Given the description of an element on the screen output the (x, y) to click on. 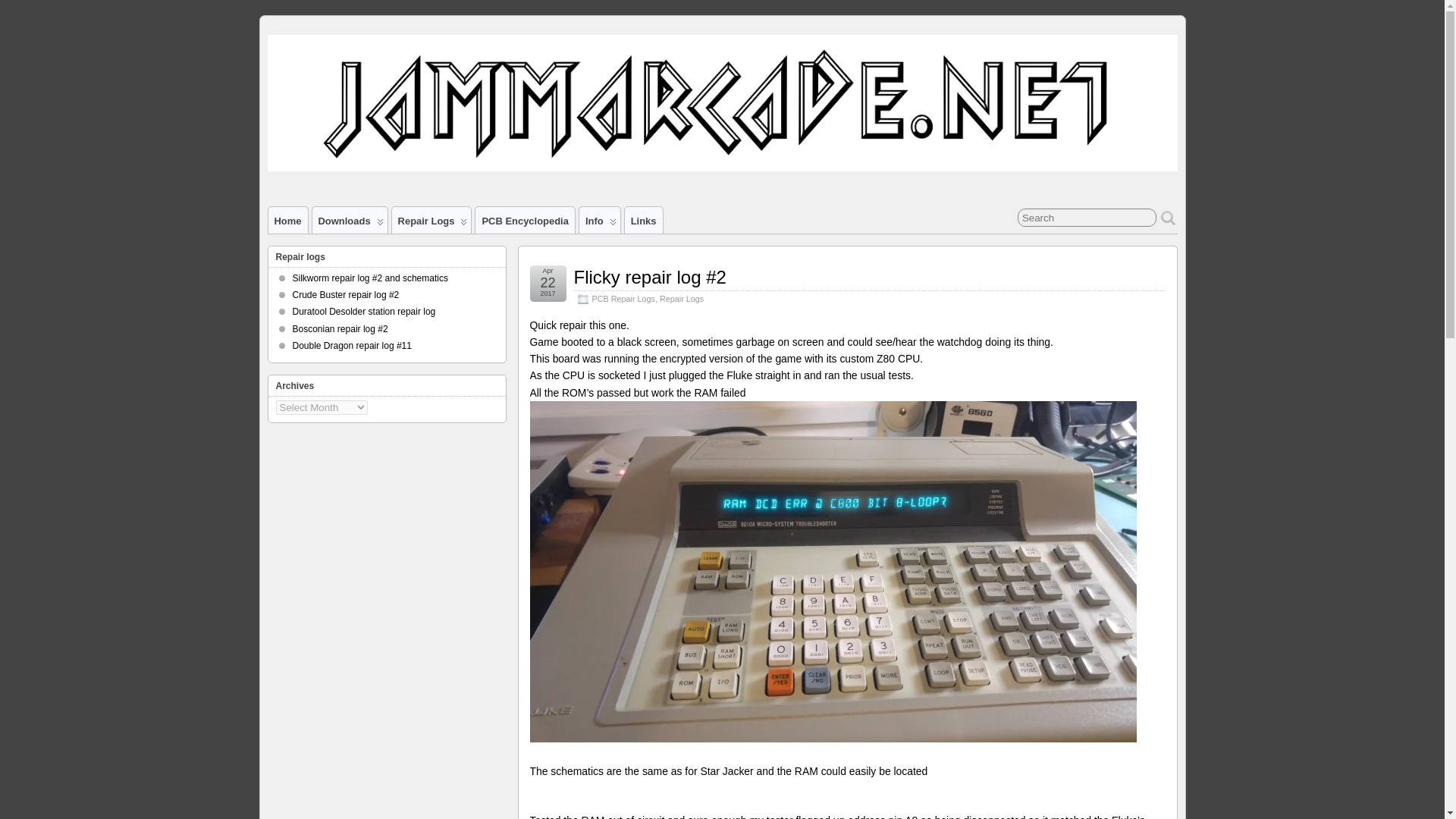
 Info (599, 220)
Duratool Desolder station repair log (363, 311)
 Repair Logs (431, 220)
PCB Encyclopedia (524, 220)
PCB Repair Logs (622, 298)
Links (643, 220)
 Downloads (350, 220)
Home (287, 220)
Repair Logs (681, 298)
